Given the description of an element on the screen output the (x, y) to click on. 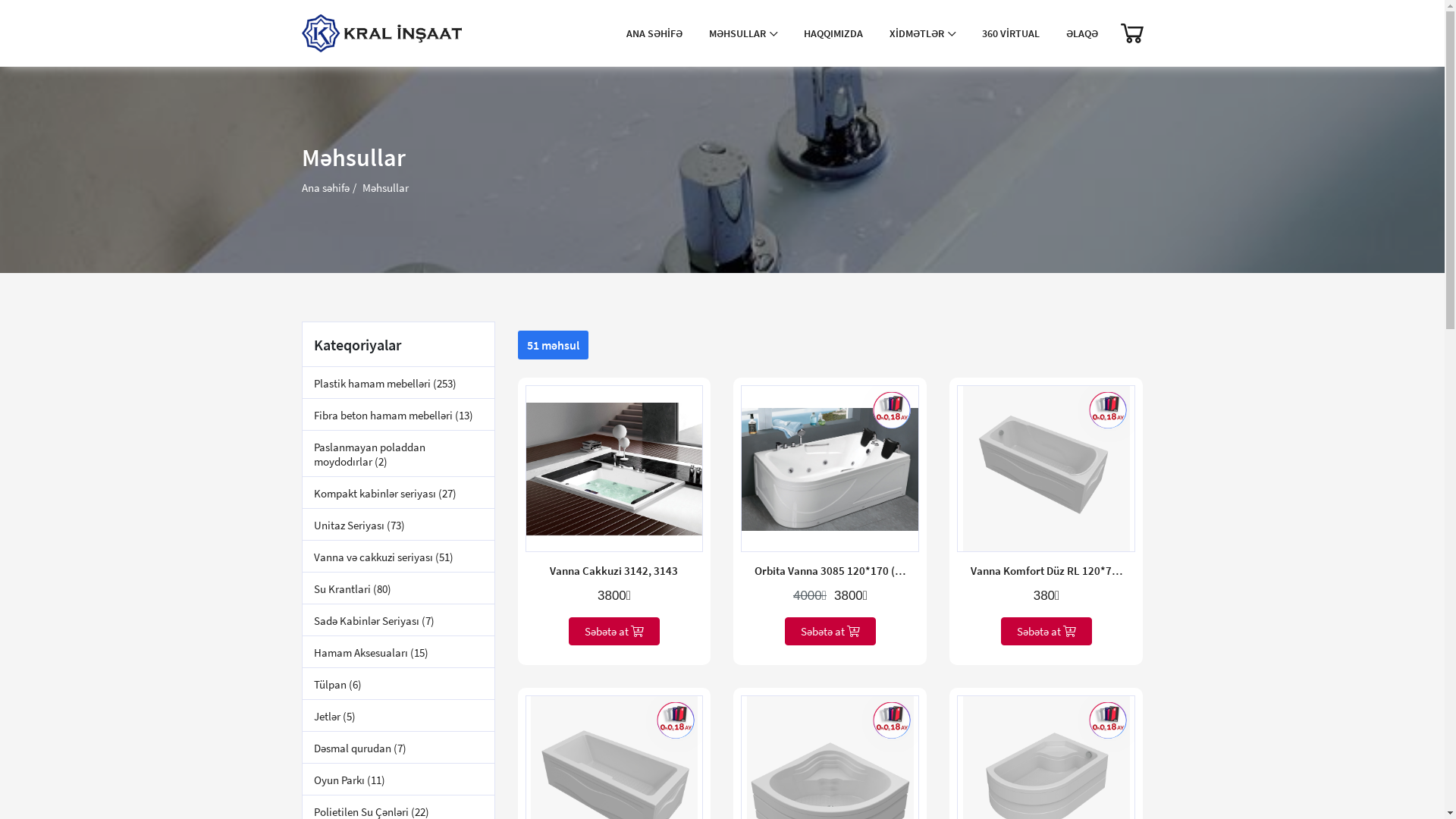
HAQQIMIZDA Element type: text (832, 33)
Su Krantlari (80) Element type: text (397, 587)
Vanna Cakkuzi 3142, 3143 Element type: text (613, 570)
